Given the description of an element on the screen output the (x, y) to click on. 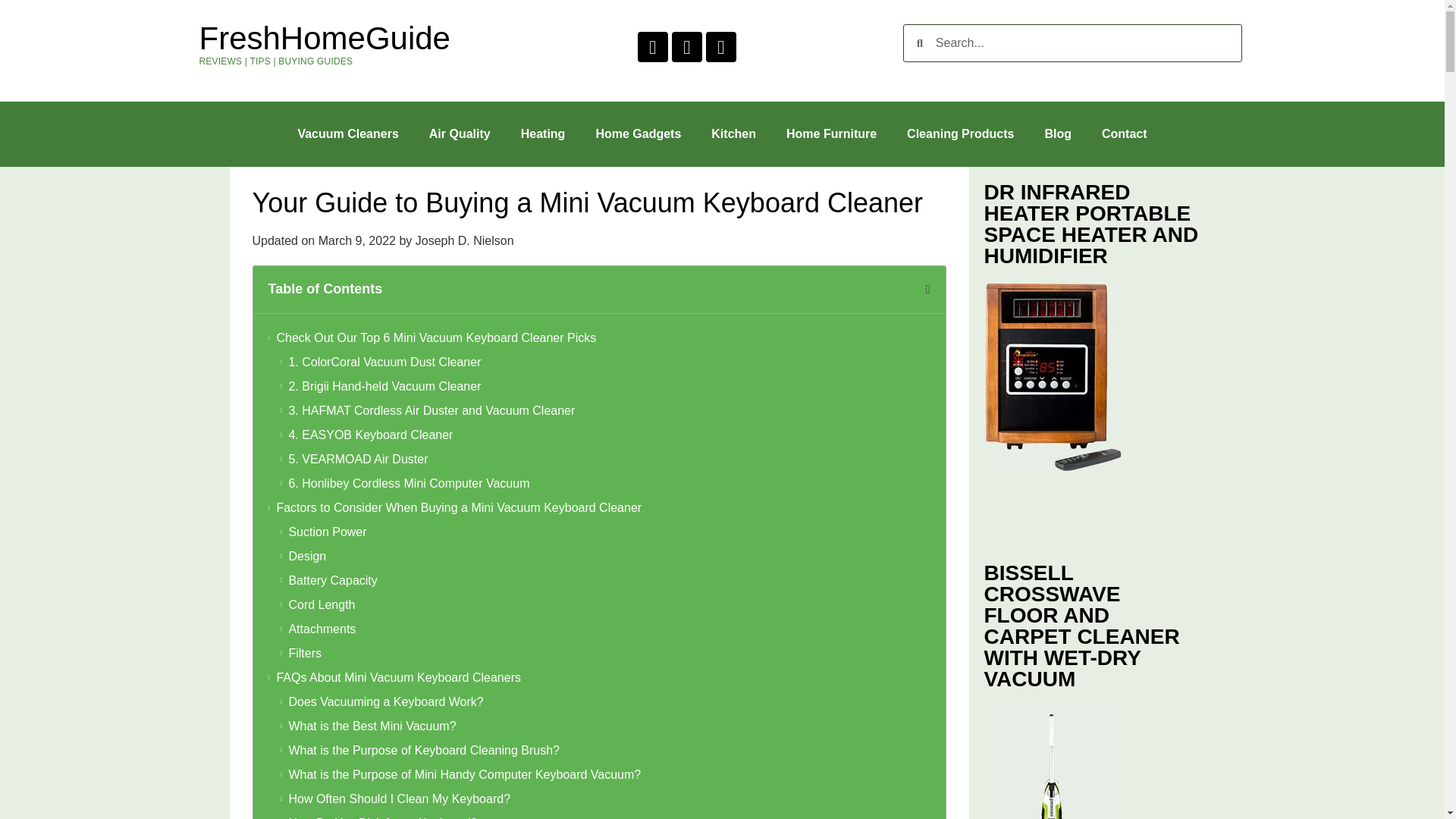
Kitchen (733, 134)
FreshHomeGuide (323, 38)
Heating (542, 134)
Air Quality (459, 134)
Vacuum Cleaners (347, 134)
Home Gadgets (637, 134)
